Given the description of an element on the screen output the (x, y) to click on. 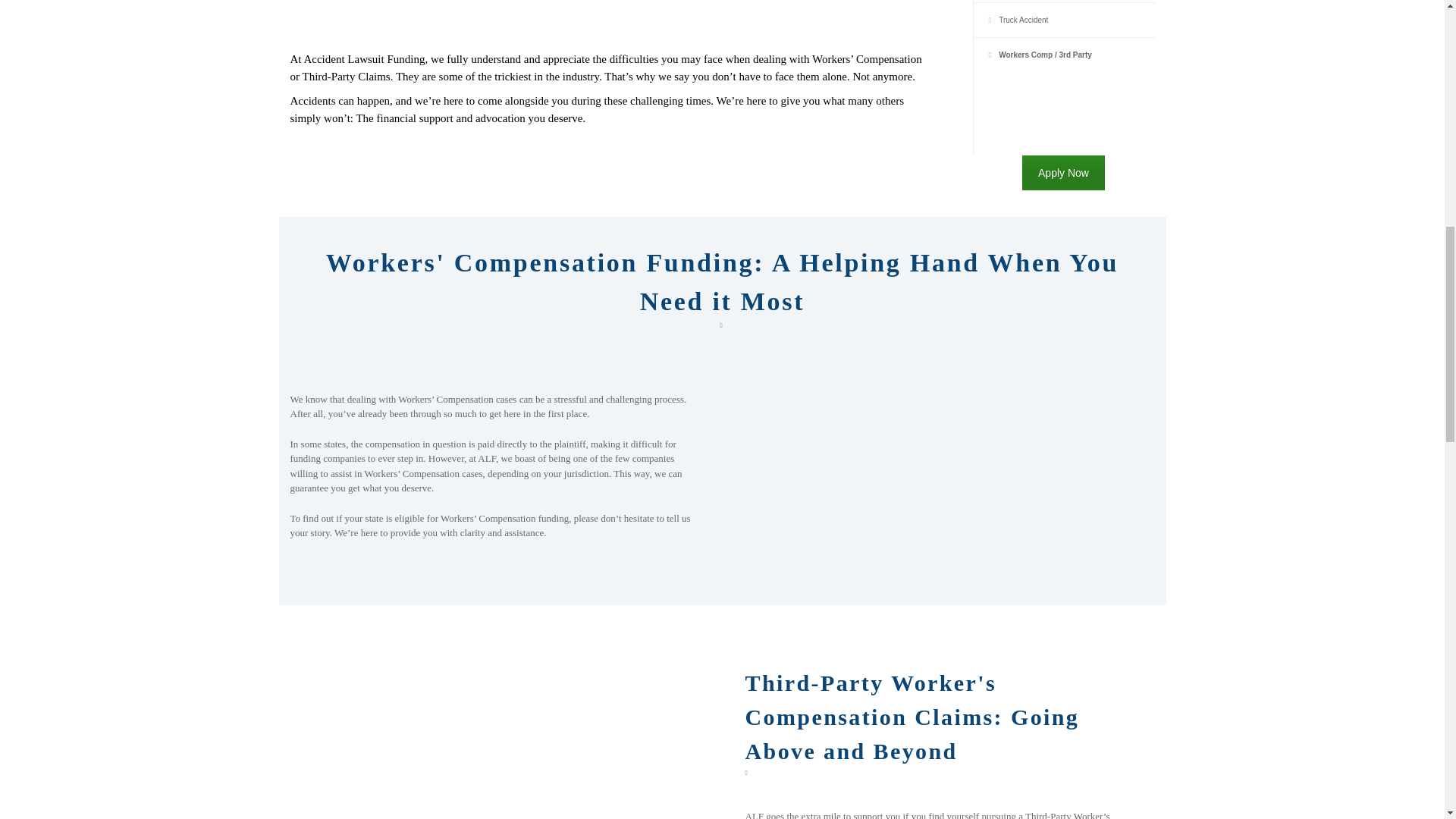
Truck Accident (1011, 19)
Apply Now (1063, 172)
Apply Now (1063, 172)
Slip and Fall (1007, 1)
